Given the description of an element on the screen output the (x, y) to click on. 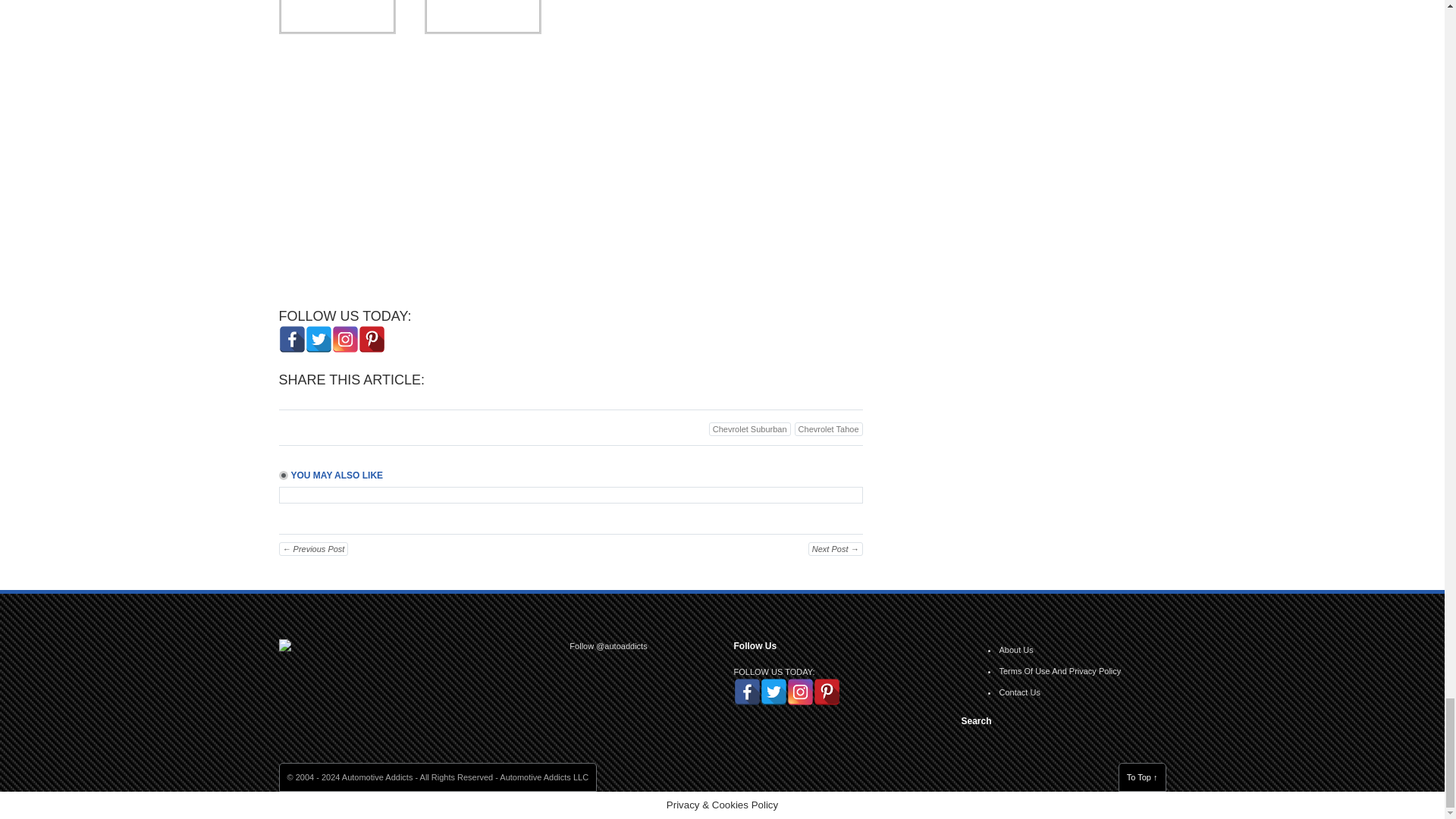
Twitter (317, 338)
Pinterest (371, 338)
Instagram (344, 338)
Facebook (292, 338)
